Given the description of an element on the screen output the (x, y) to click on. 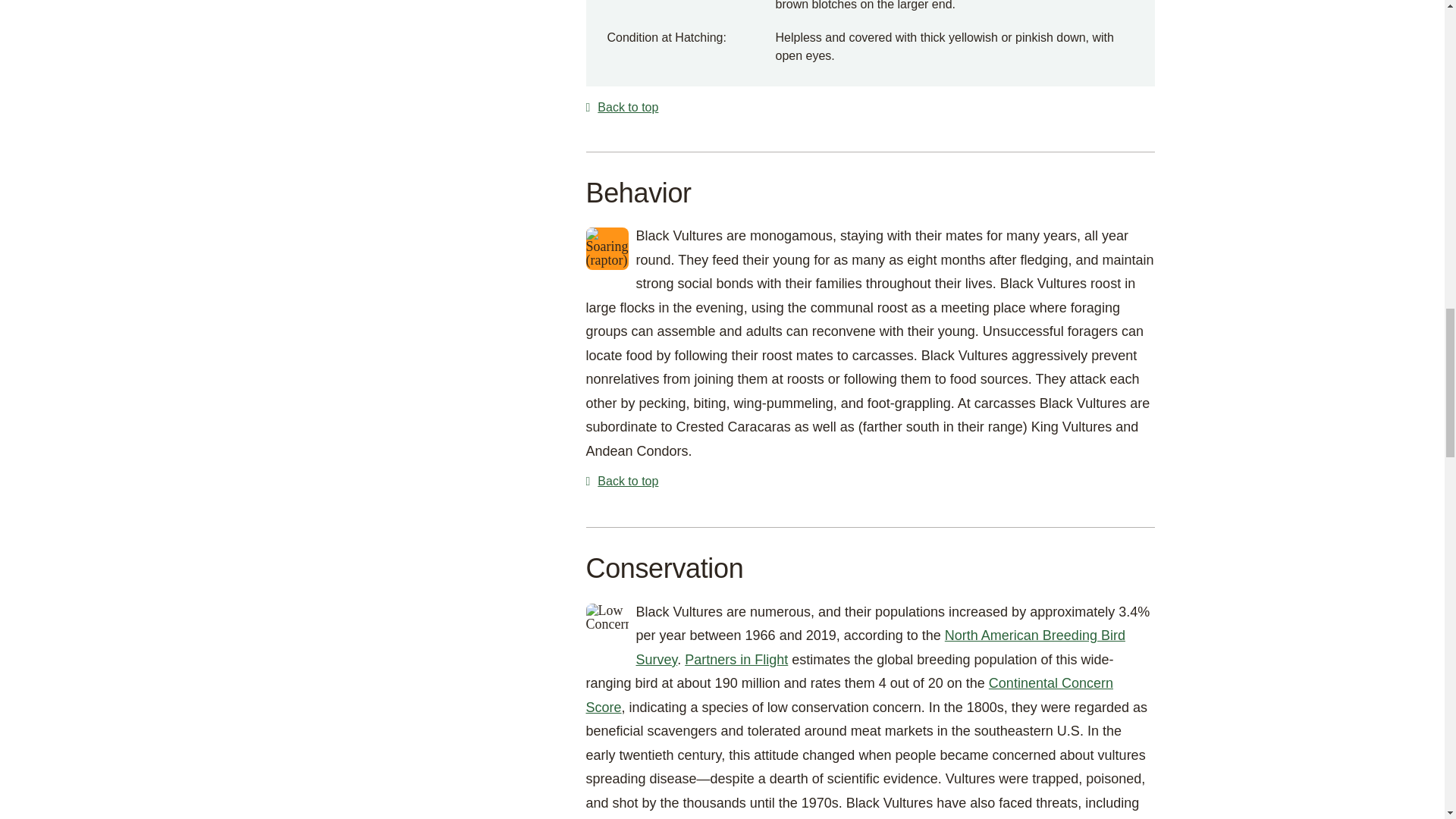
Back to top (869, 107)
Partners in Flight (735, 659)
Continental Concern Score (848, 694)
North American Breeding Bird Survey (879, 647)
Back to top (869, 481)
